Given the description of an element on the screen output the (x, y) to click on. 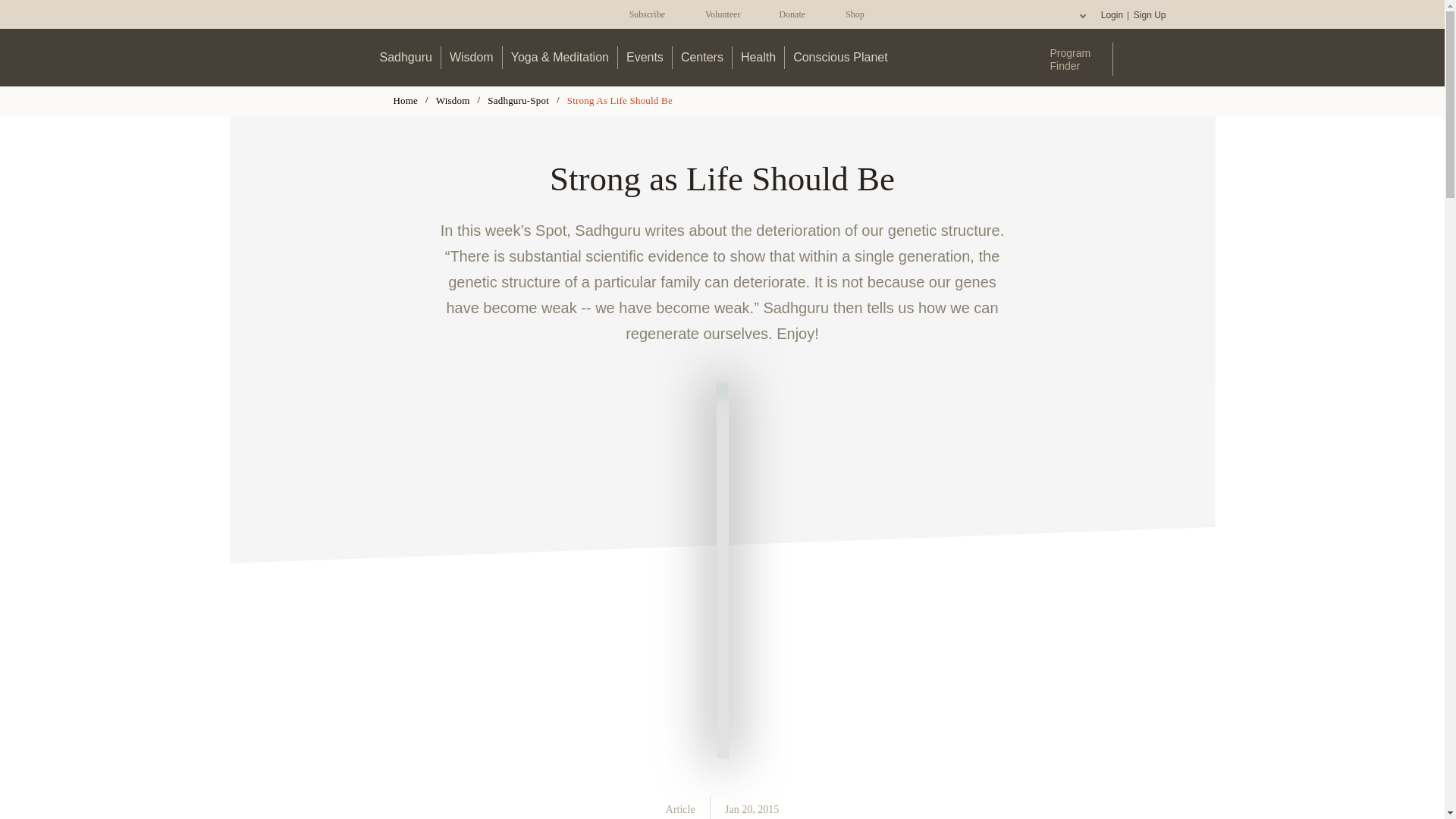
Login (1112, 15)
Sadhguru (406, 56)
Wisdom (471, 56)
Sign Up (1149, 15)
